Given the description of an element on the screen output the (x, y) to click on. 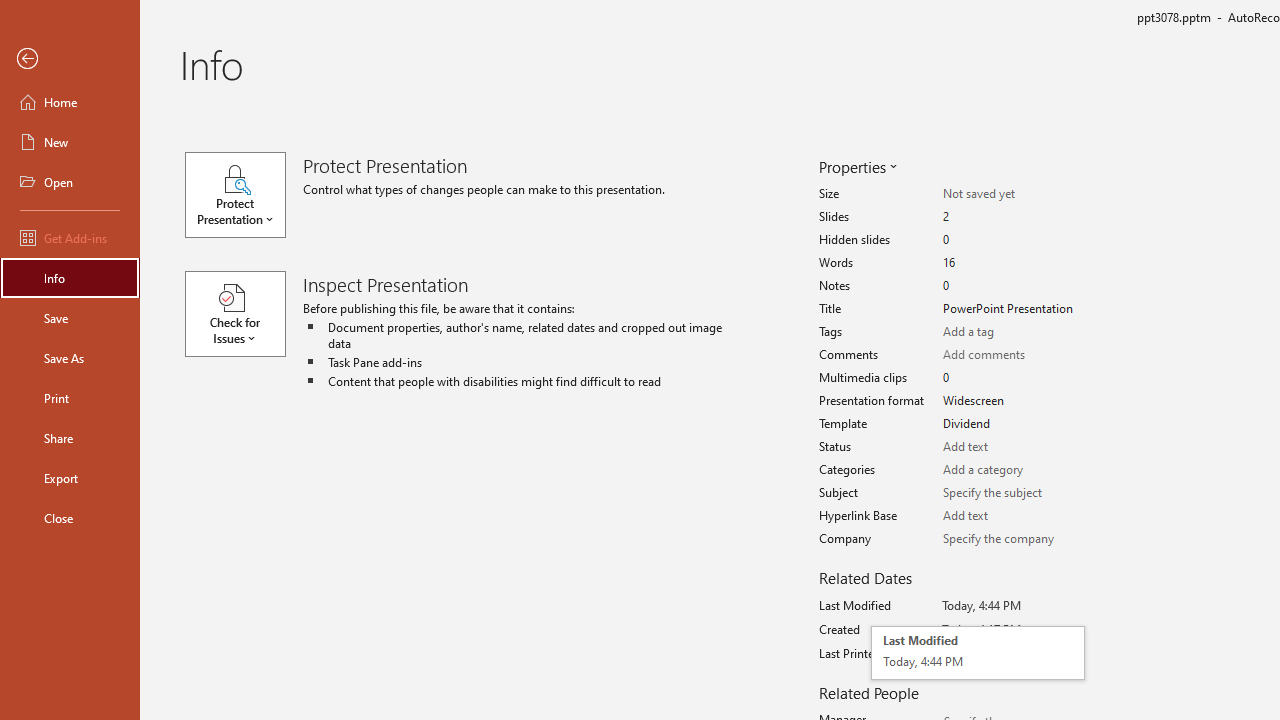
Properties (856, 166)
Back (69, 59)
Hidden slides (1012, 240)
Categories (1012, 470)
Tags (1012, 332)
Check for Issues (244, 313)
Title (1012, 309)
Save As (69, 357)
Multimedia clips (1012, 378)
Info (69, 277)
Size (1012, 194)
